Given the description of an element on the screen output the (x, y) to click on. 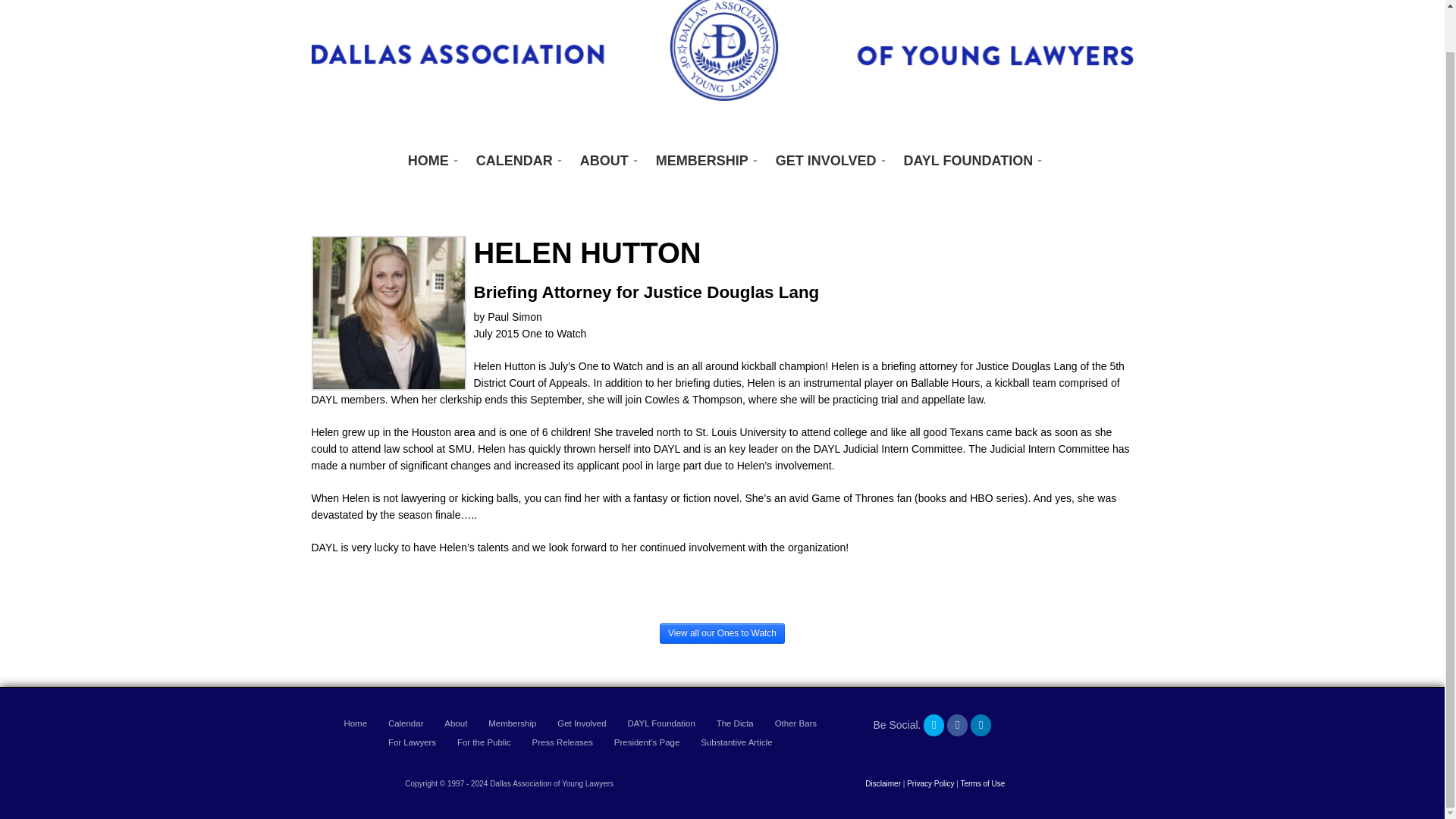
View all our Ones to Watch (721, 633)
About (455, 723)
Home (354, 723)
Calendar (405, 723)
The Dicta (735, 723)
Other Bars (795, 723)
CALENDAR (515, 160)
Membership (511, 723)
HOME (430, 160)
DAYL Foundation (661, 723)
